Given the description of an element on the screen output the (x, y) to click on. 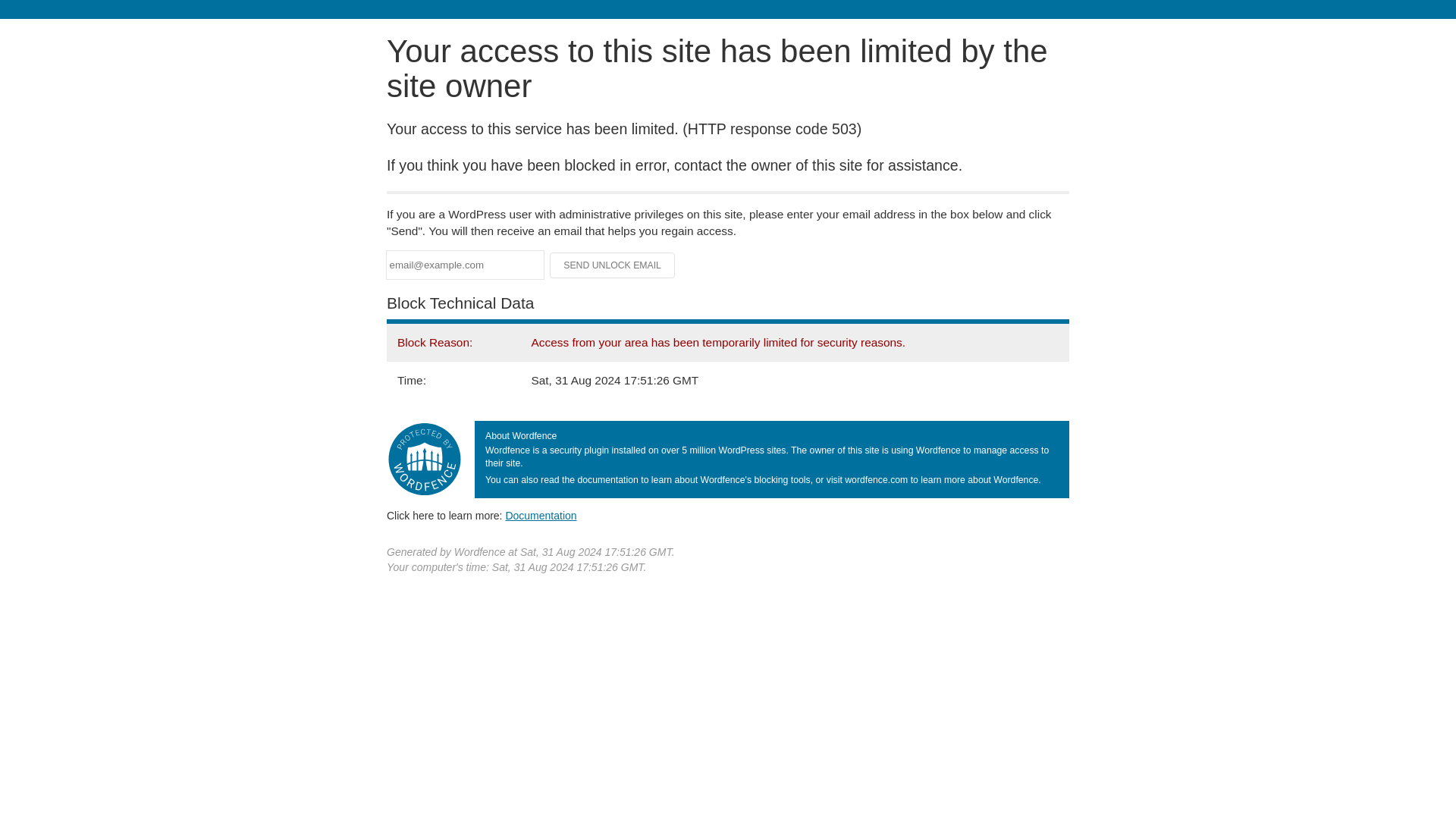
Documentation (540, 515)
Send Unlock Email (612, 265)
Send Unlock Email (612, 265)
